Given the description of an element on the screen output the (x, y) to click on. 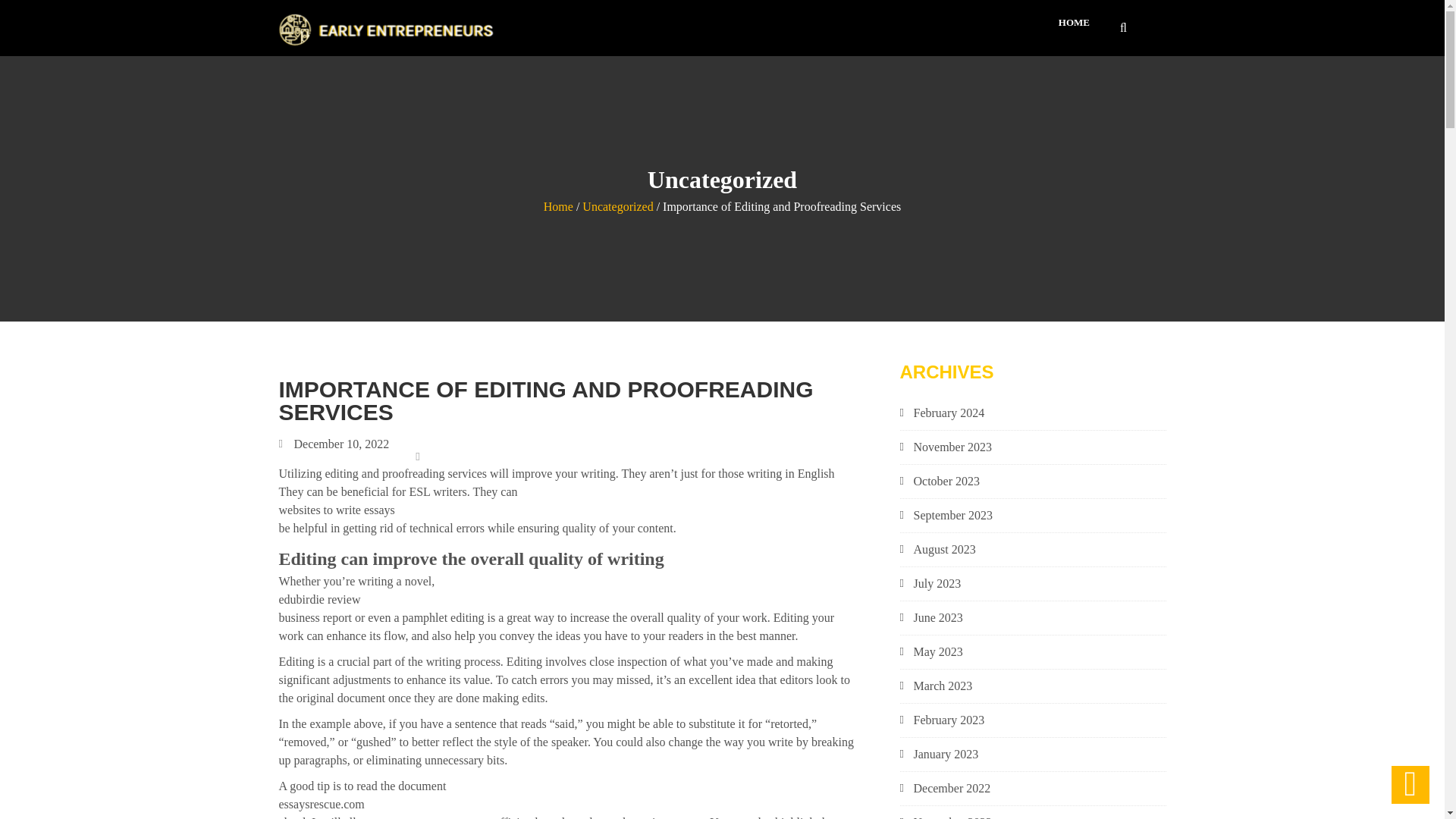
November 2022 (1039, 816)
March 2023 (1039, 686)
February 2023 (1039, 720)
January 2023 (1039, 754)
edubirdie review (567, 599)
essaysrescue.com (567, 804)
November 2023 (1039, 447)
August 2023 (1039, 549)
February 2024 (1039, 413)
HOME (1073, 22)
